Given the description of an element on the screen output the (x, y) to click on. 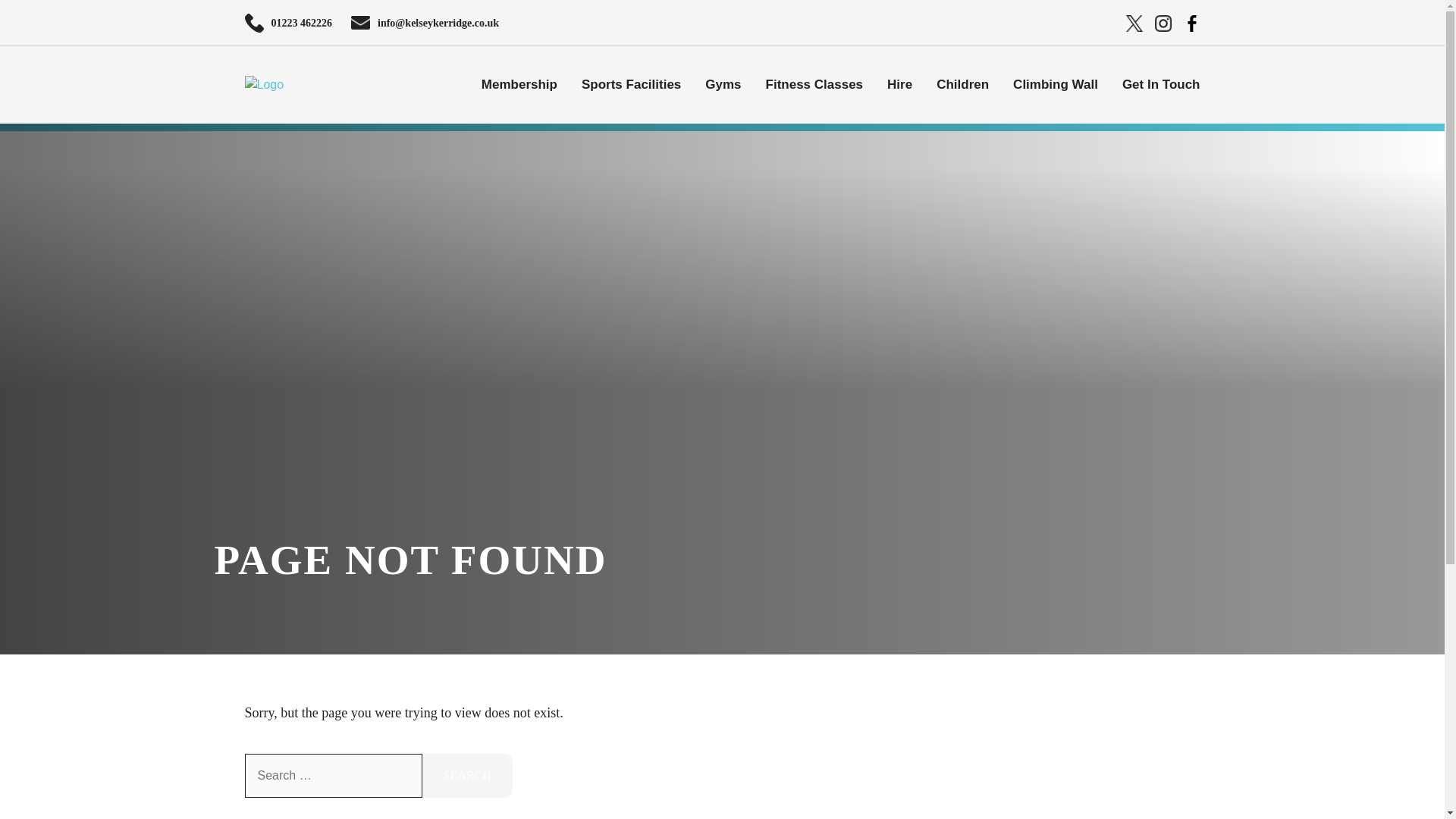
01223 462226 (301, 23)
Fitness Classes (814, 84)
Sports Facilities (630, 84)
Membership (519, 84)
Search for: (333, 775)
Search (467, 775)
Search (467, 775)
